Given the description of an element on the screen output the (x, y) to click on. 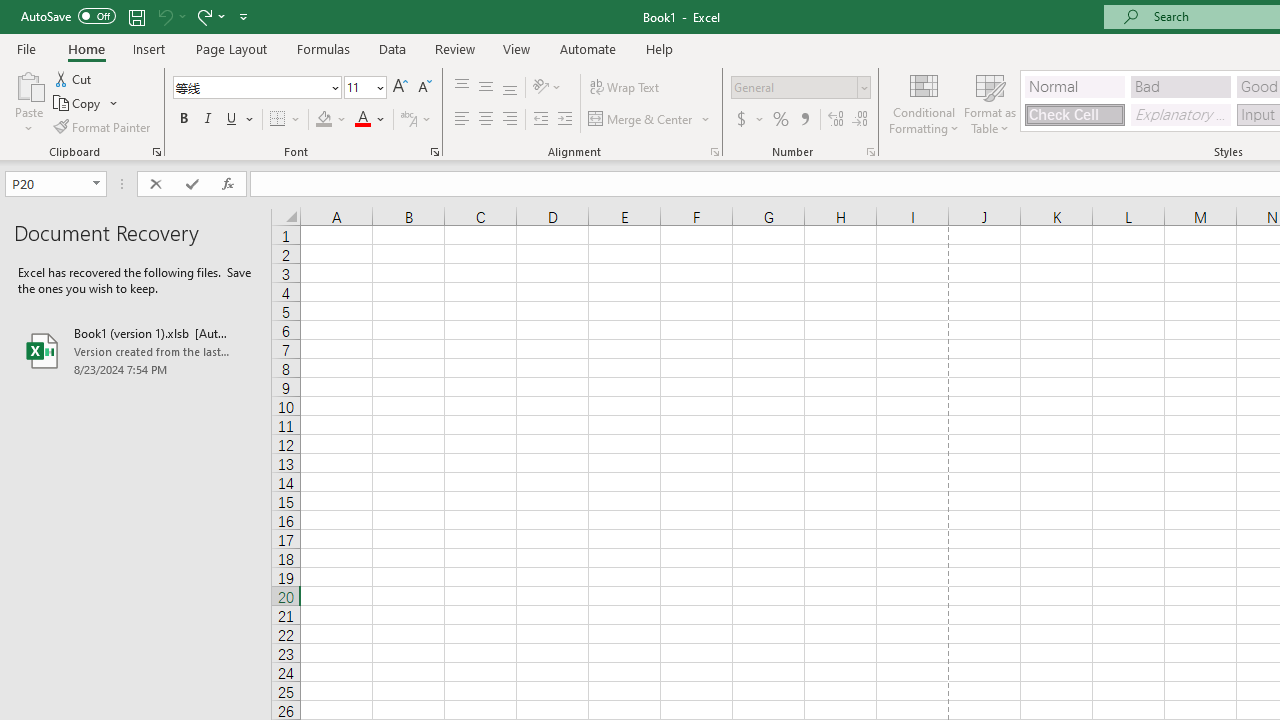
Underline (239, 119)
Borders (285, 119)
Decrease Decimal (859, 119)
Paste (28, 84)
Center (485, 119)
View (517, 48)
Fill Color (331, 119)
Font Size (365, 87)
Office Clipboard... (156, 151)
Book1 (version 1).xlsb  [AutoRecovered] (136, 350)
Insert (149, 48)
Bold (183, 119)
Quick Access Toolbar (136, 16)
